Given the description of an element on the screen output the (x, y) to click on. 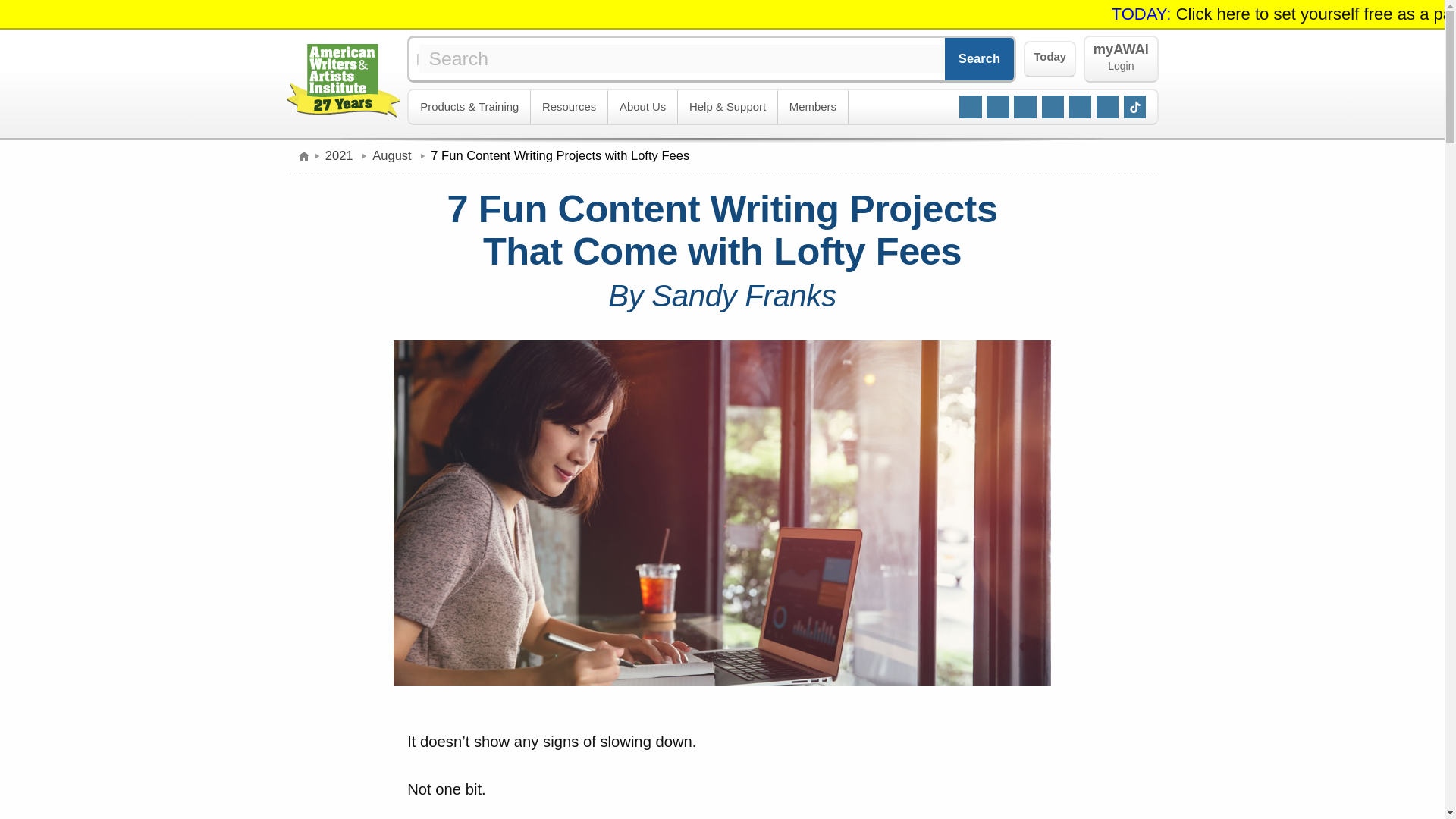
Search (979, 58)
Members (1120, 58)
Today (812, 107)
Resources (1049, 58)
About Us (569, 107)
